Given the description of an element on the screen output the (x, y) to click on. 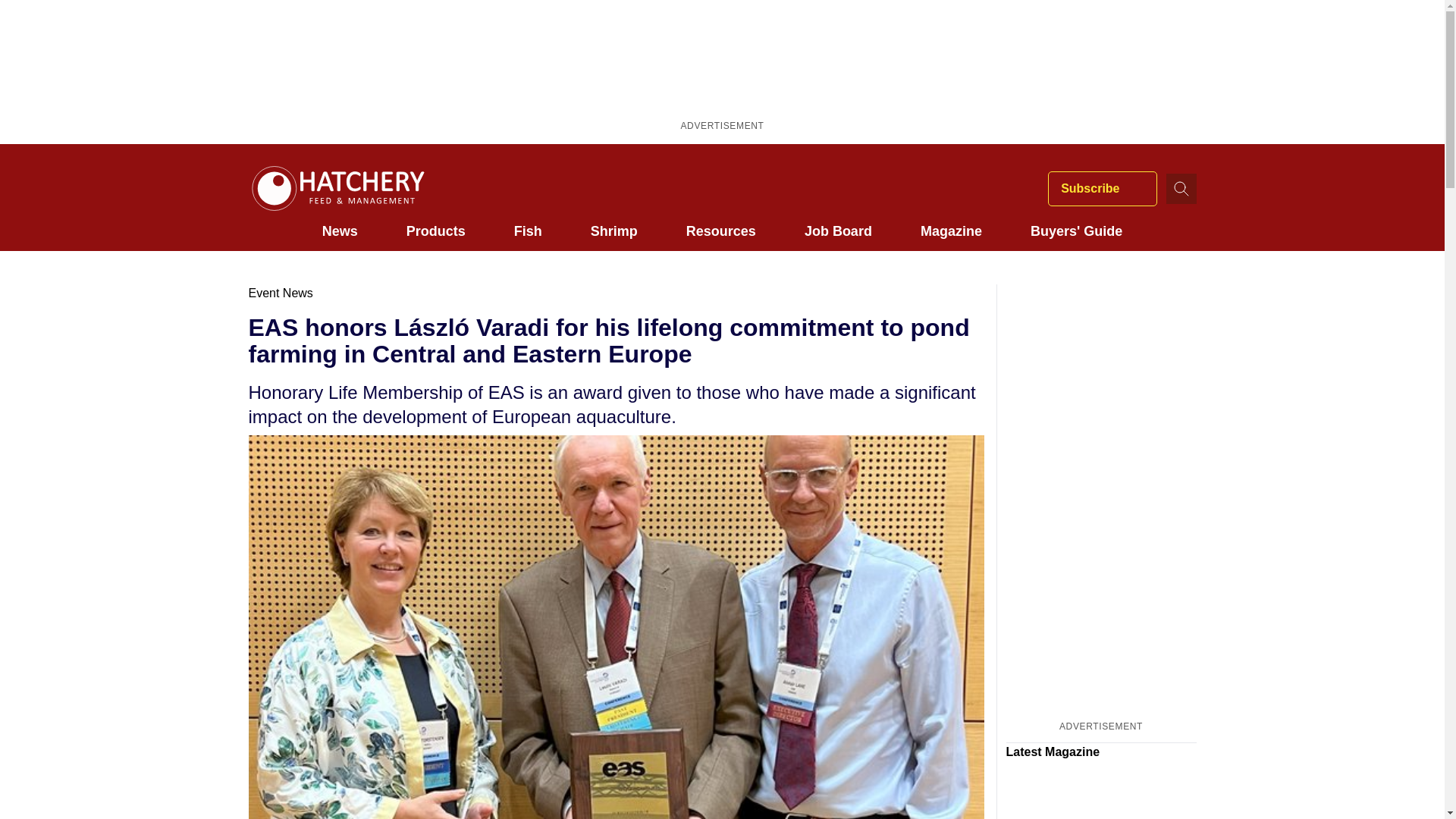
Subscribe (1102, 188)
Fish (527, 231)
Shrimp (614, 231)
Facebook (903, 188)
Resources (720, 231)
Youtube (990, 188)
Job Board (838, 231)
Products (435, 231)
Buyers' Guide (1076, 231)
News (339, 231)
